Given the description of an element on the screen output the (x, y) to click on. 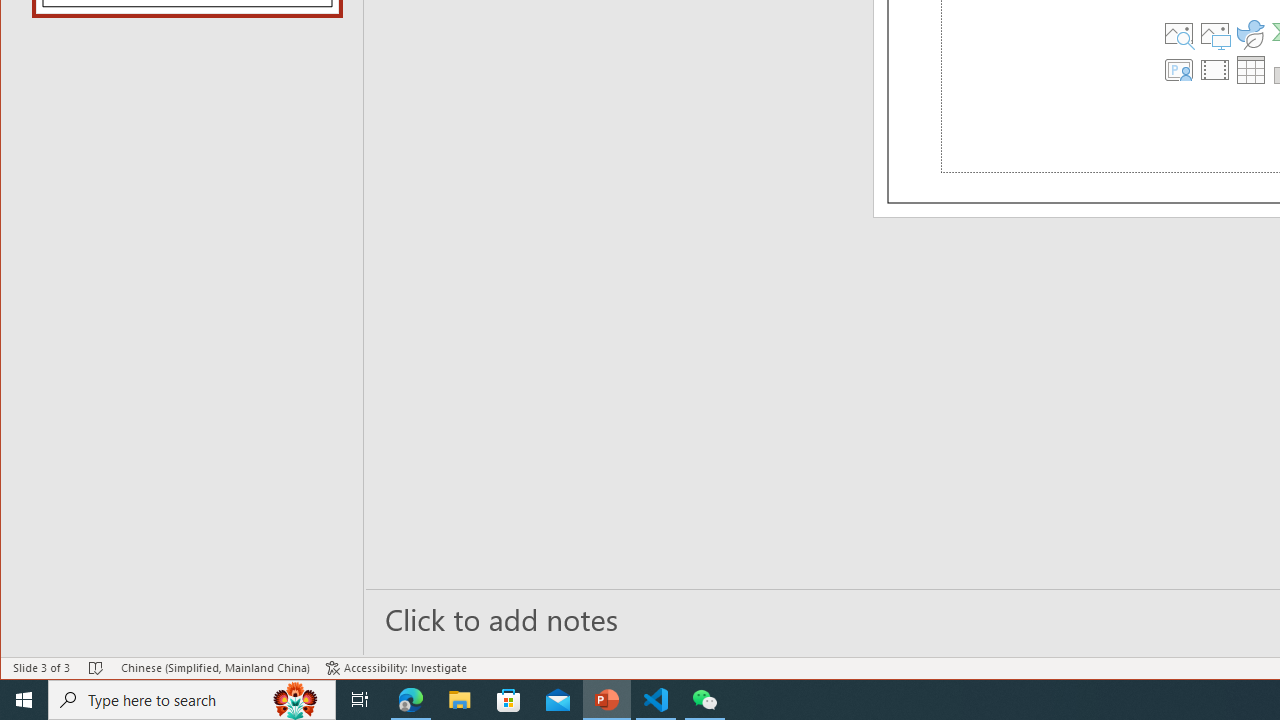
Insert Video (1215, 69)
